Given the description of an element on the screen output the (x, y) to click on. 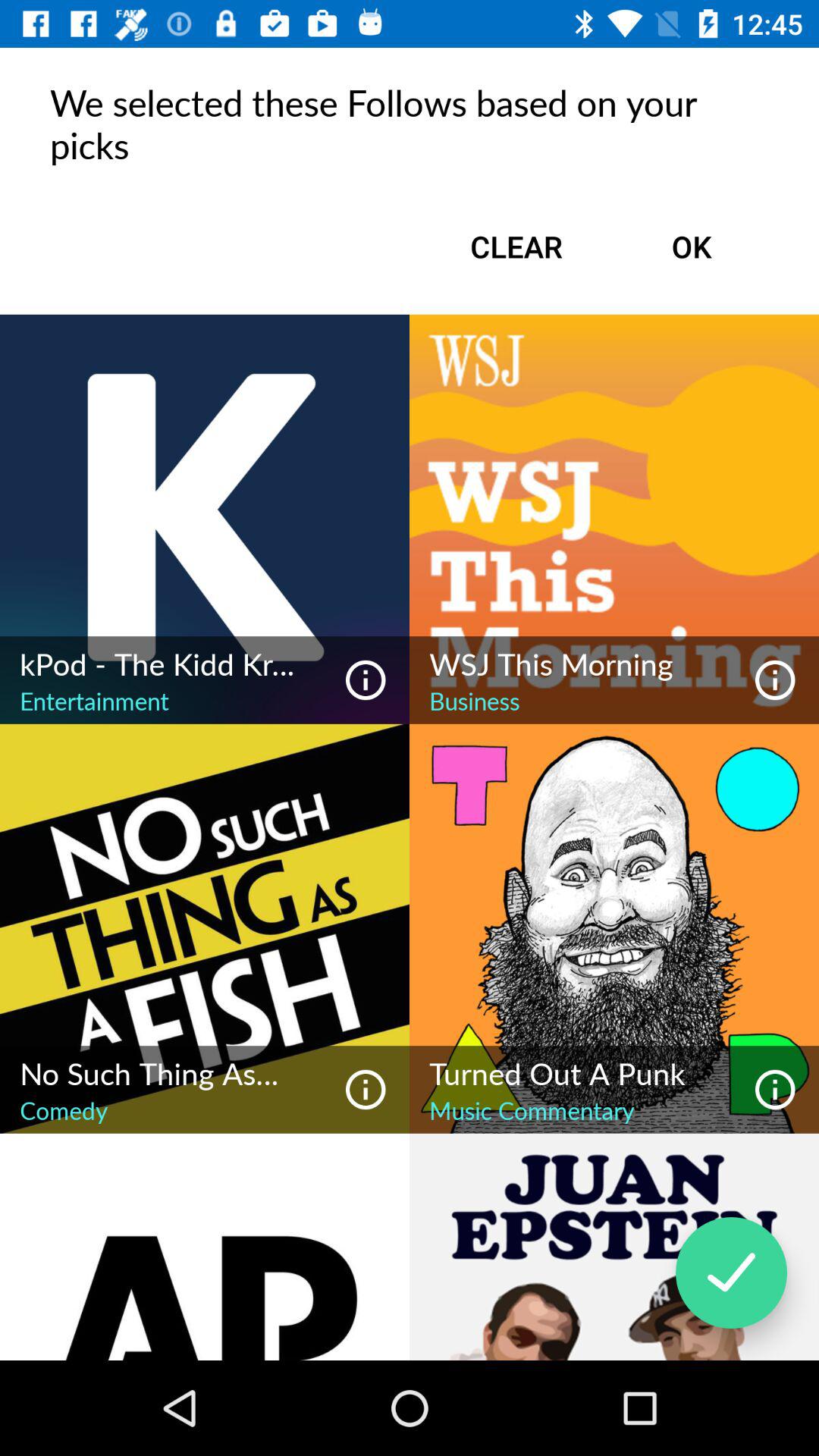
turn off item to the right of the clear item (691, 246)
